Given the description of an element on the screen output the (x, y) to click on. 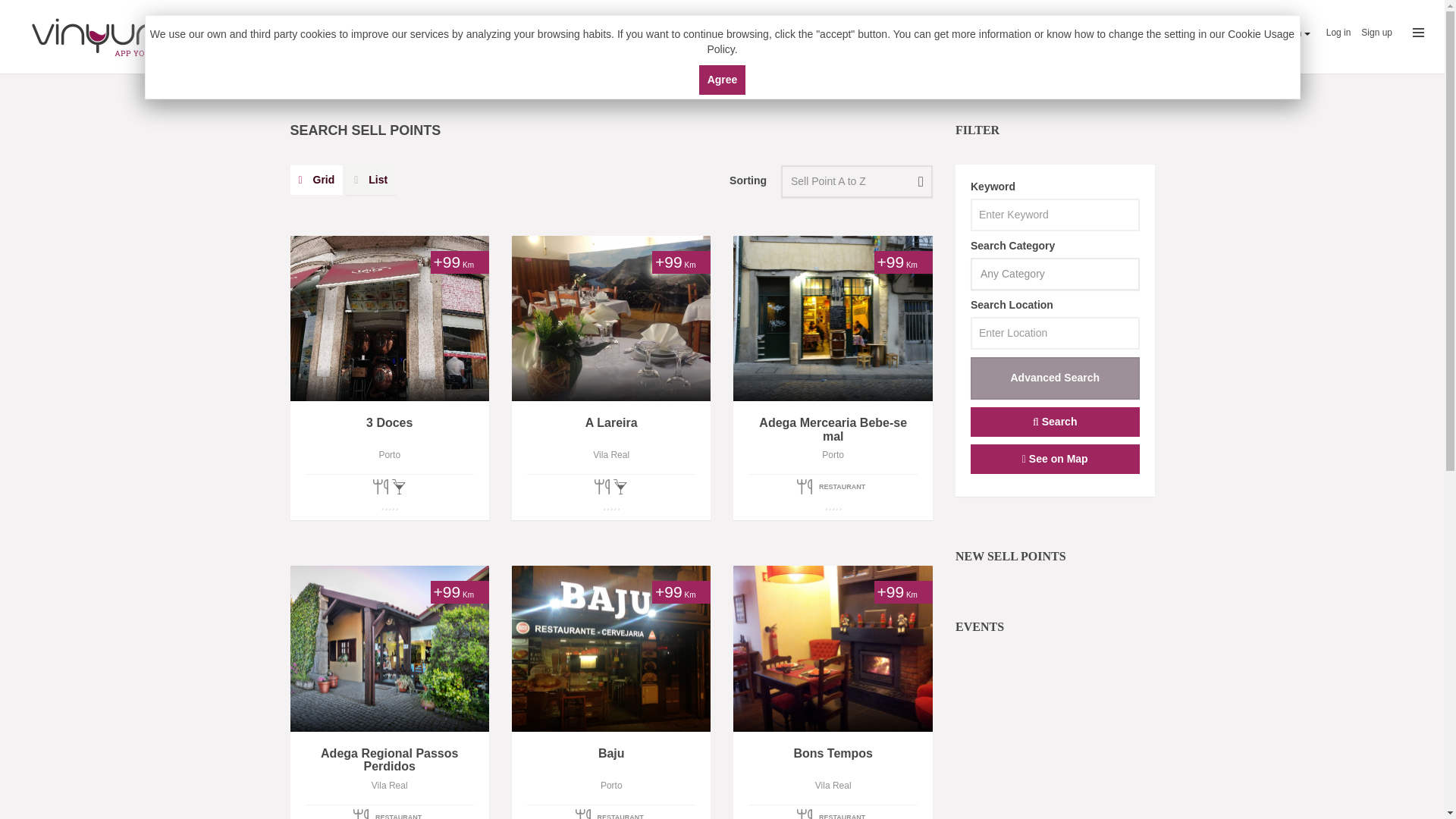
A Lareira (611, 429)
Grid (315, 179)
Agree (721, 80)
Baju (611, 759)
Adega Mercearia Bebe-se mal (832, 429)
Sign up (1376, 32)
Log in (1338, 32)
Any Category (1055, 273)
Bons Tempos (832, 759)
3 Doces (856, 181)
Sell Point A to Z (388, 429)
Adega Regional Passos Perdidos (856, 181)
Search Sell Points (388, 759)
List (345, 88)
